Given the description of an element on the screen output the (x, y) to click on. 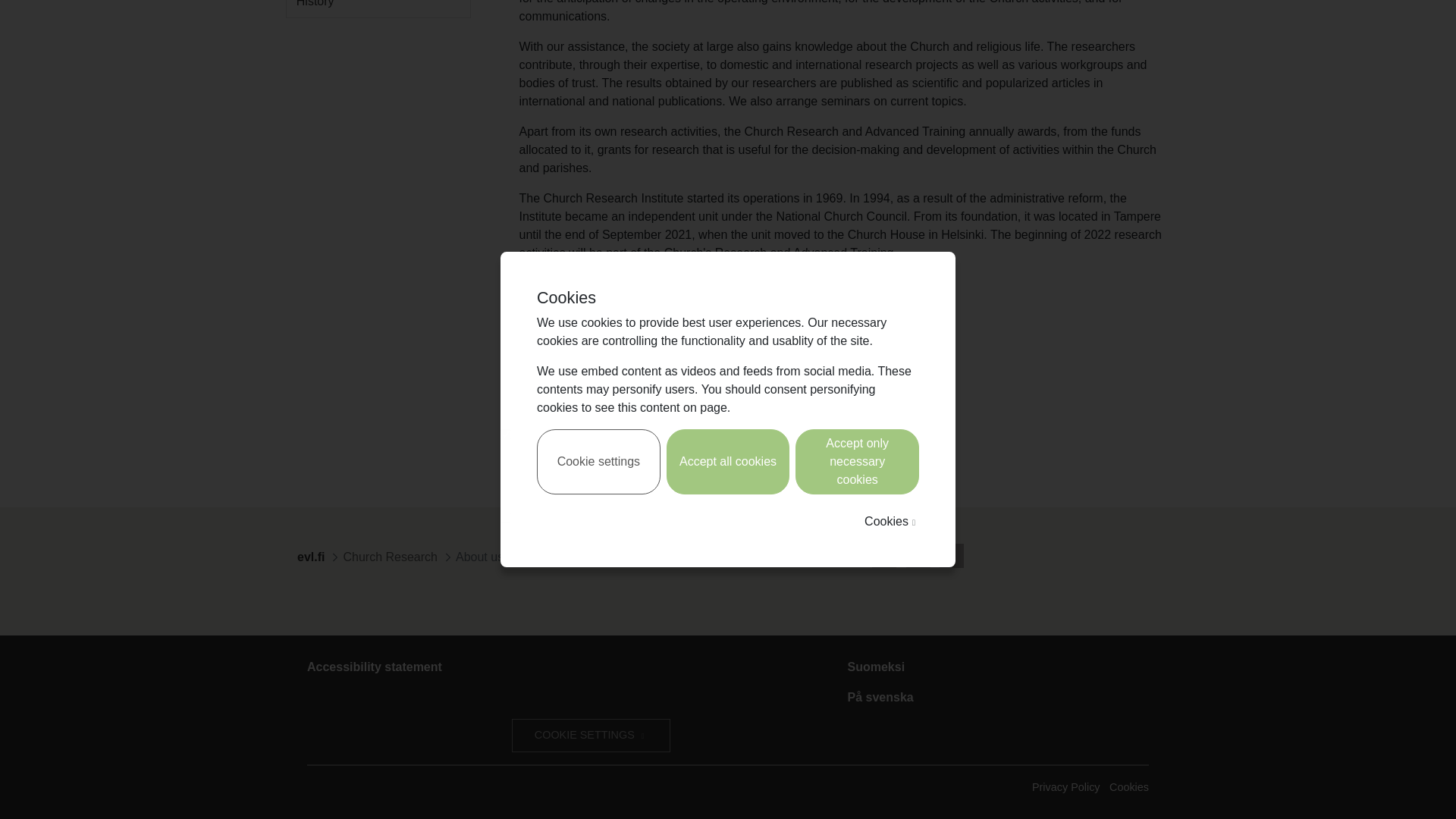
on (505, 75)
